Given the description of an element on the screen output the (x, y) to click on. 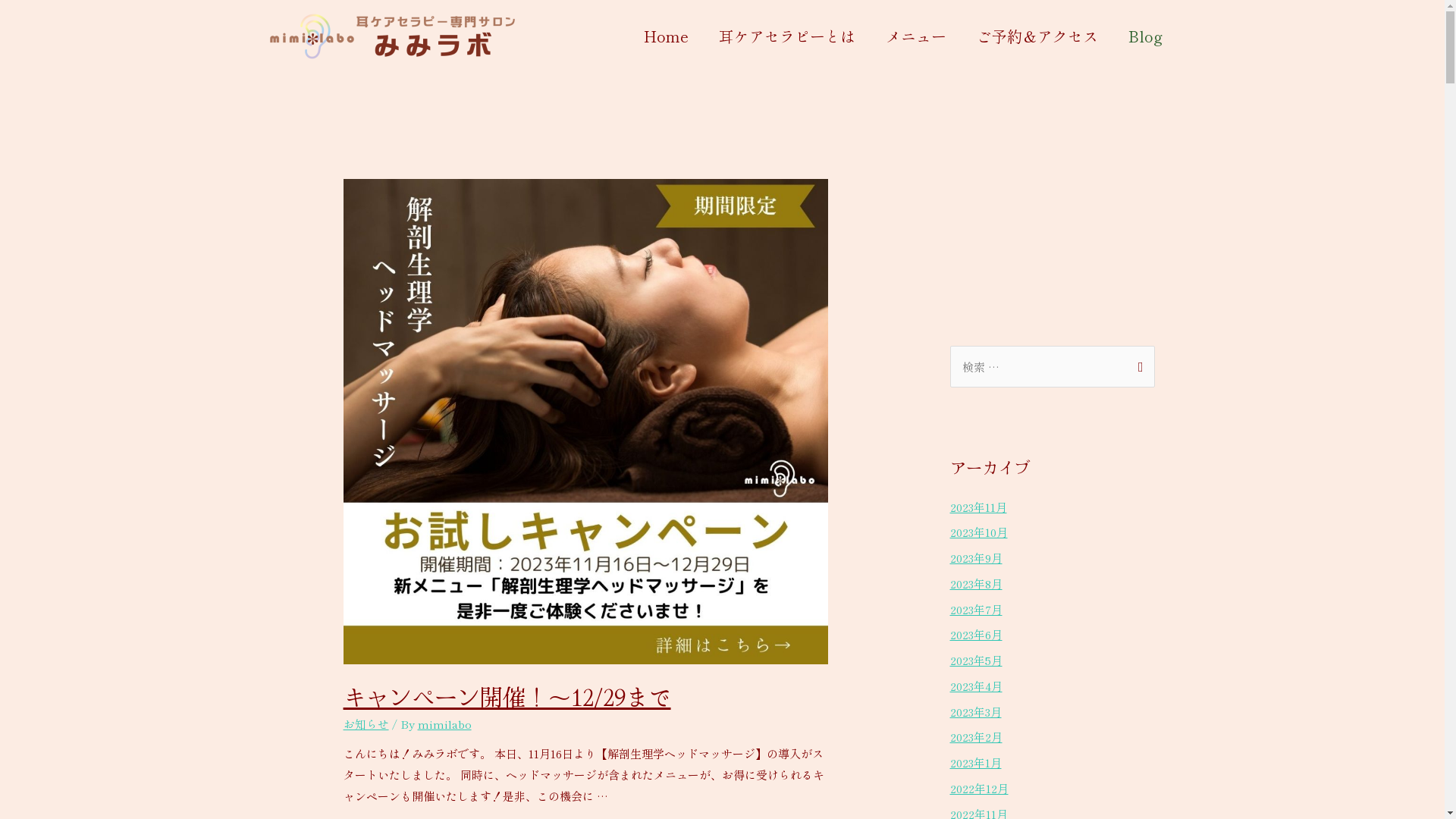
mimilabo Element type: text (444, 723)
Blog Element type: text (1145, 36)
Home Element type: text (664, 36)
